Given the description of an element on the screen output the (x, y) to click on. 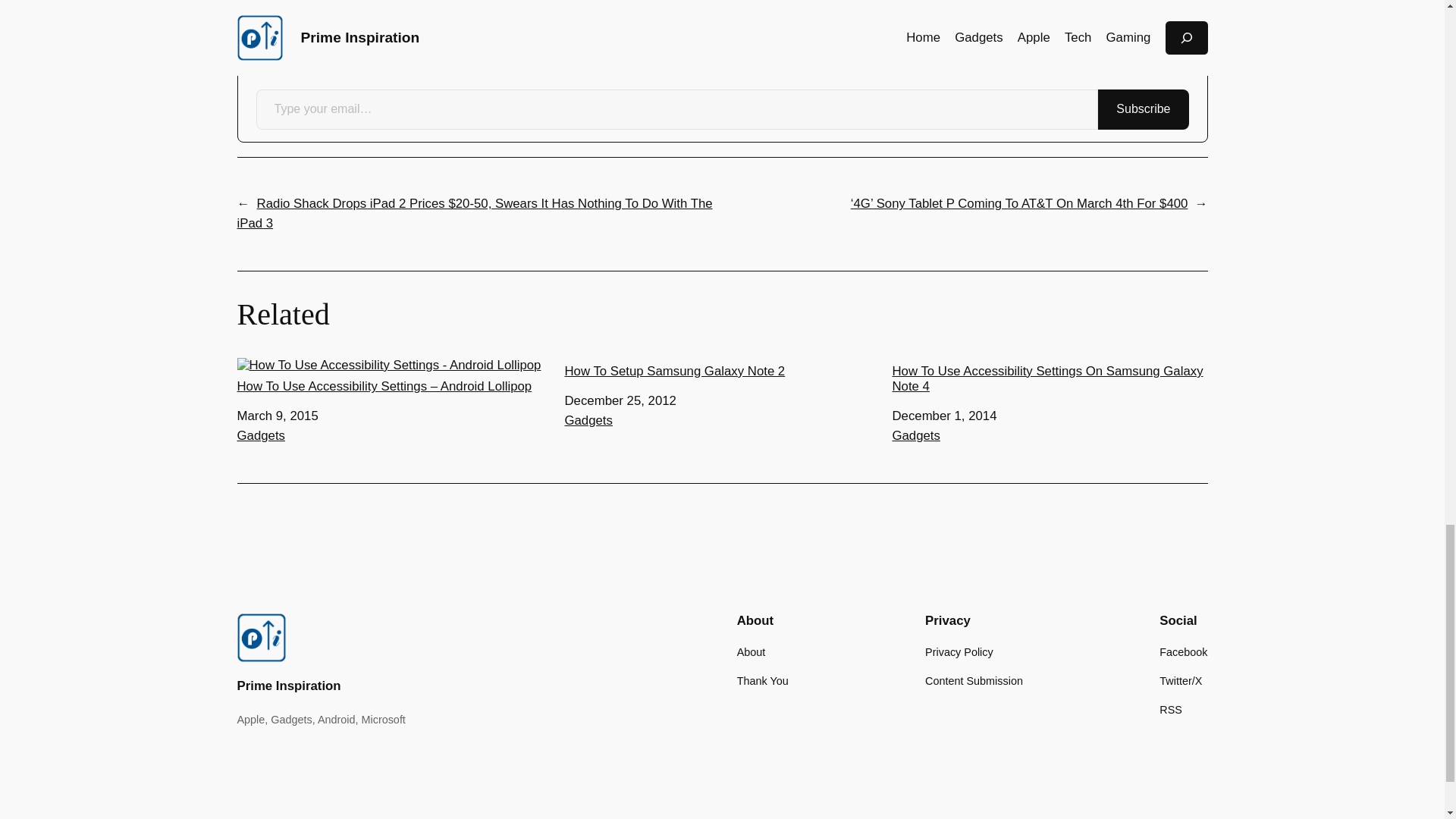
Gadgets (259, 435)
Subscribe (1142, 109)
How To Setup Samsung Galaxy Note 2 (721, 368)
